Given the description of an element on the screen output the (x, y) to click on. 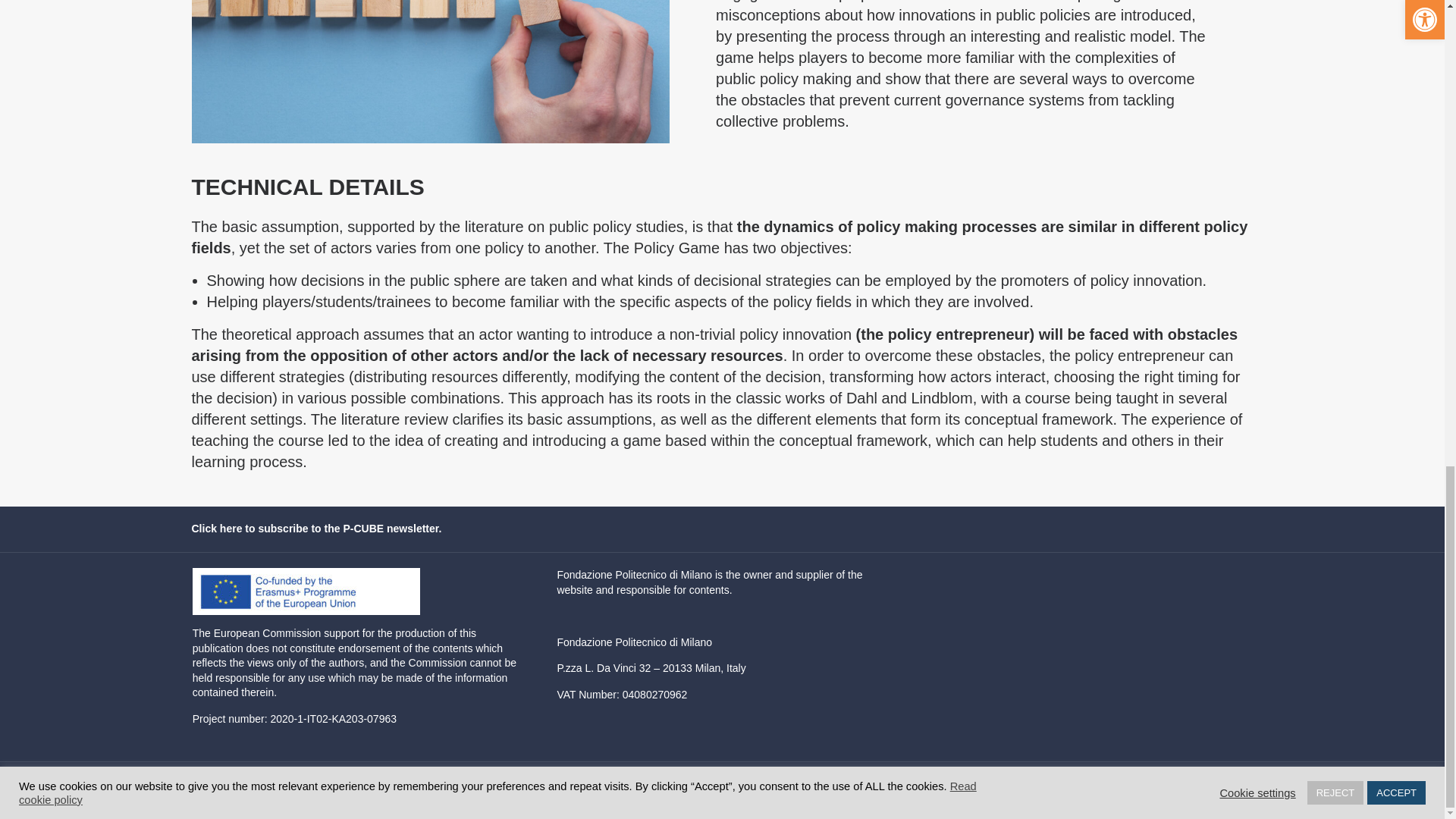
Click here to subscribe to the P-CUBE newsletter. (315, 528)
Powered by WordPress (246, 787)
Azuma (367, 787)
